Given the description of an element on the screen output the (x, y) to click on. 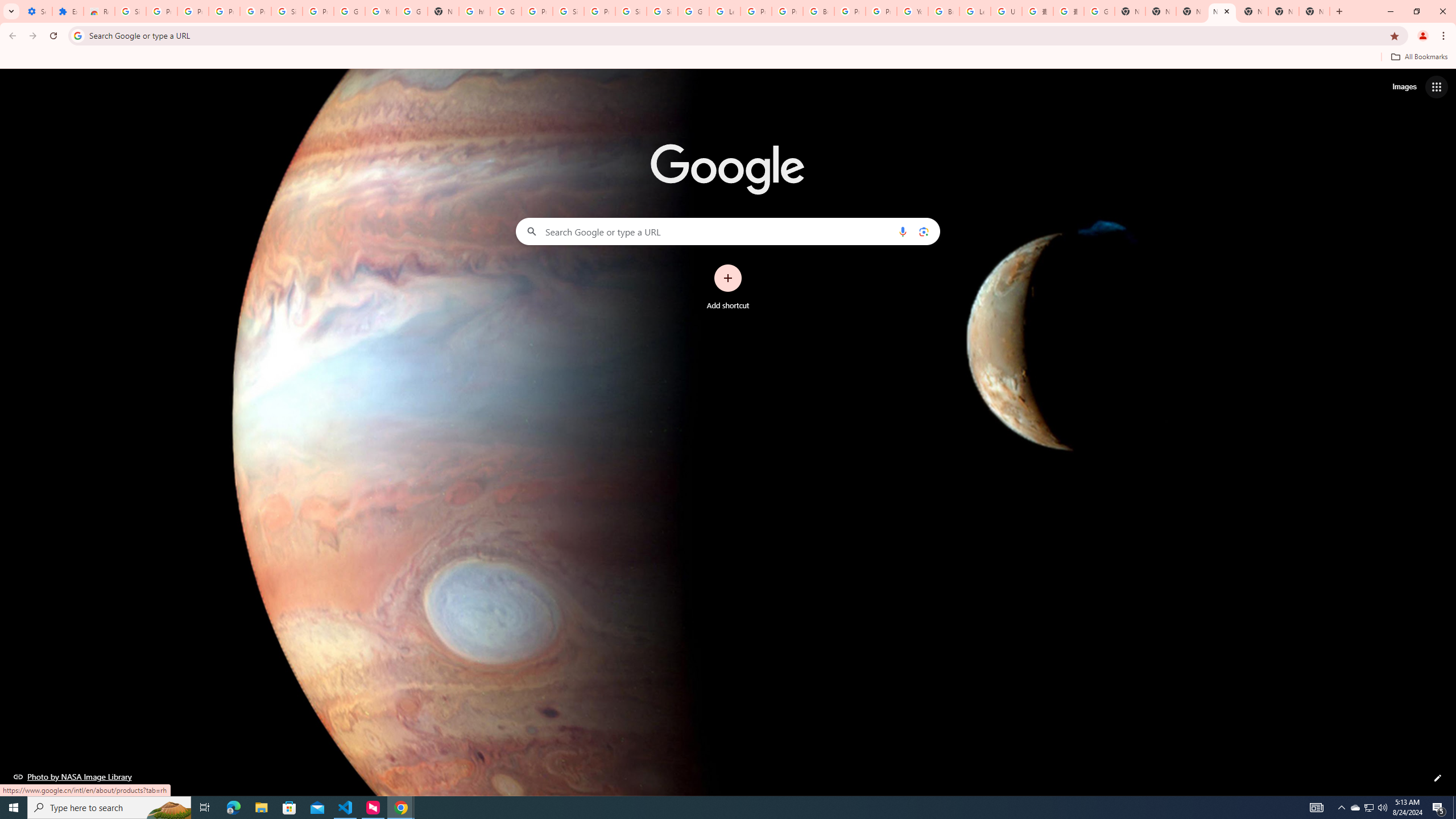
Extensions (67, 11)
Search for Images  (1403, 87)
Search Google or type a URL (727, 230)
Sign in - Google Accounts (130, 11)
YouTube (380, 11)
New Tab (1314, 11)
